Given the description of an element on the screen output the (x, y) to click on. 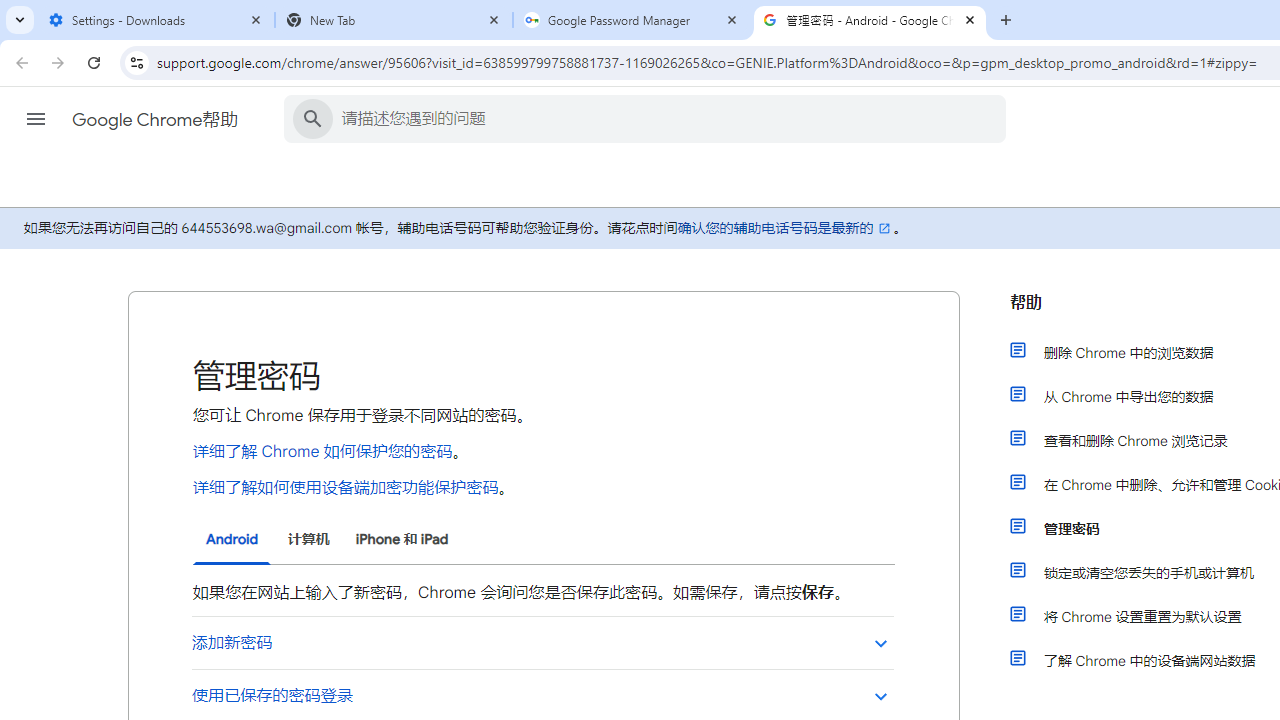
Google Password Manager (632, 20)
